Given the description of an element on the screen output the (x, y) to click on. 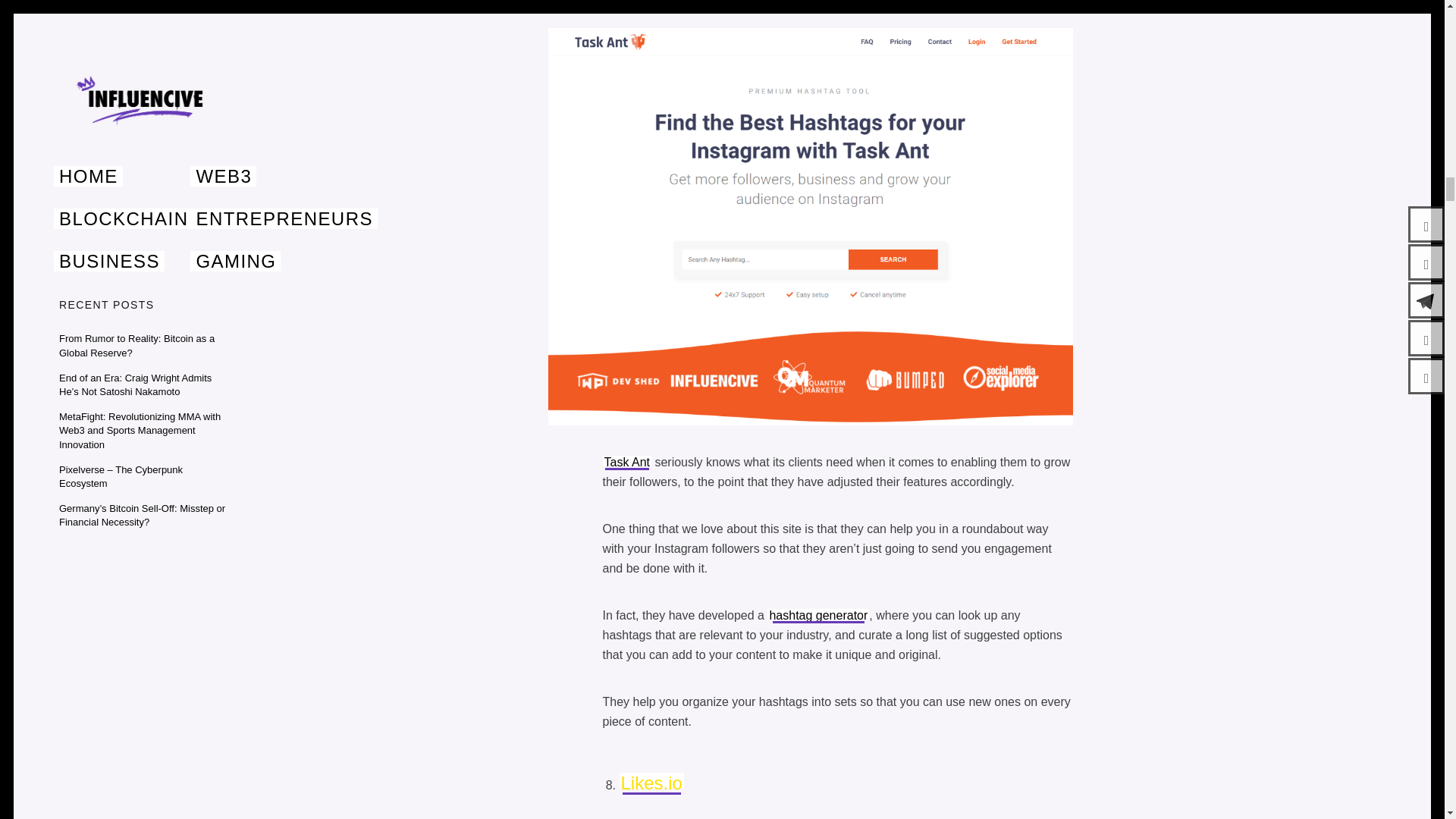
Task Ant (654, 0)
hashtag generator (818, 615)
Task Ant (626, 461)
